Given the description of an element on the screen output the (x, y) to click on. 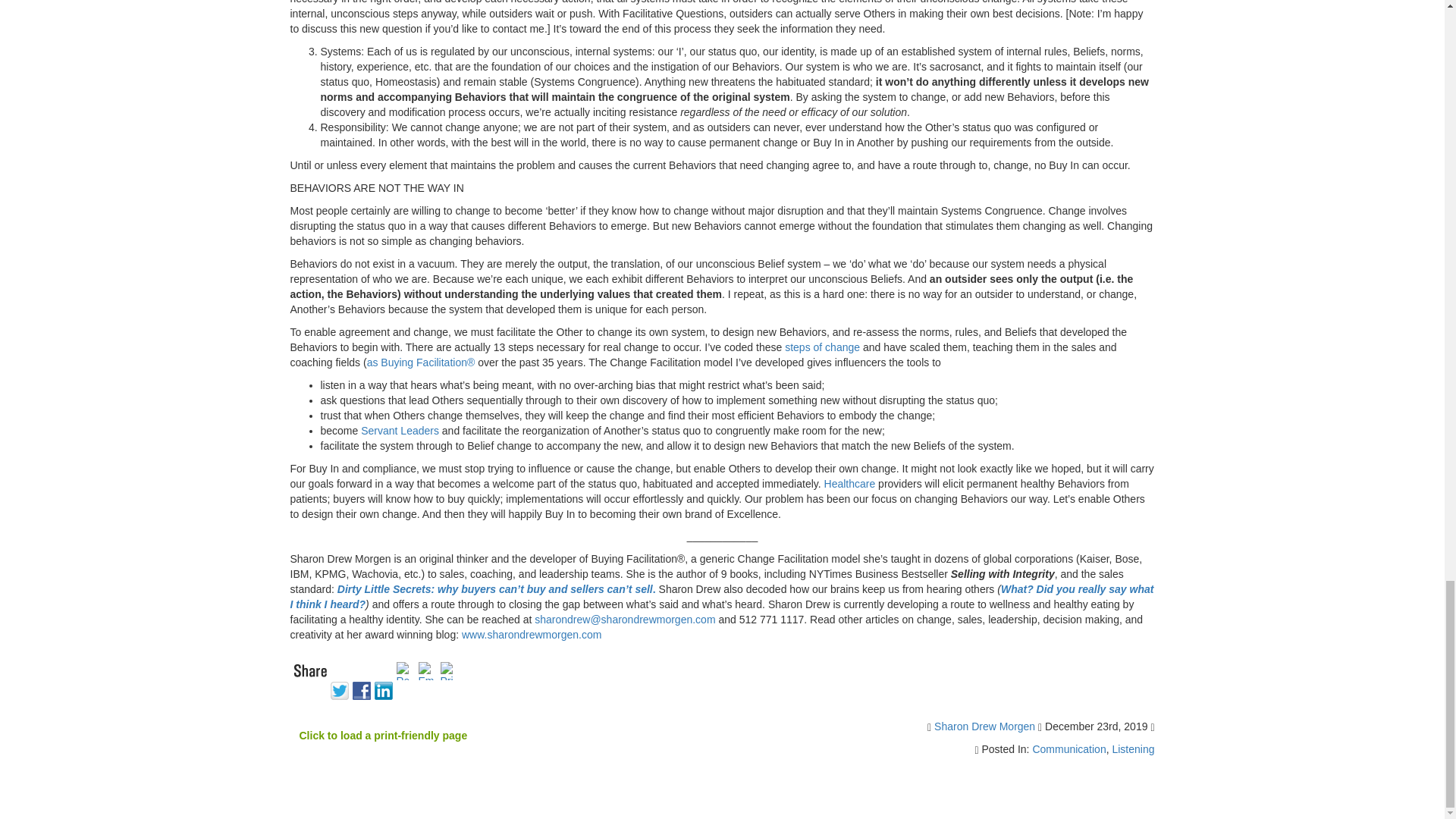
Healthcare (850, 483)
www.sharondrewmorgen.com (531, 634)
What? Did you really say what I think I heard? (721, 596)
steps of change (822, 346)
Servant Leaders (400, 430)
